Given the description of an element on the screen output the (x, y) to click on. 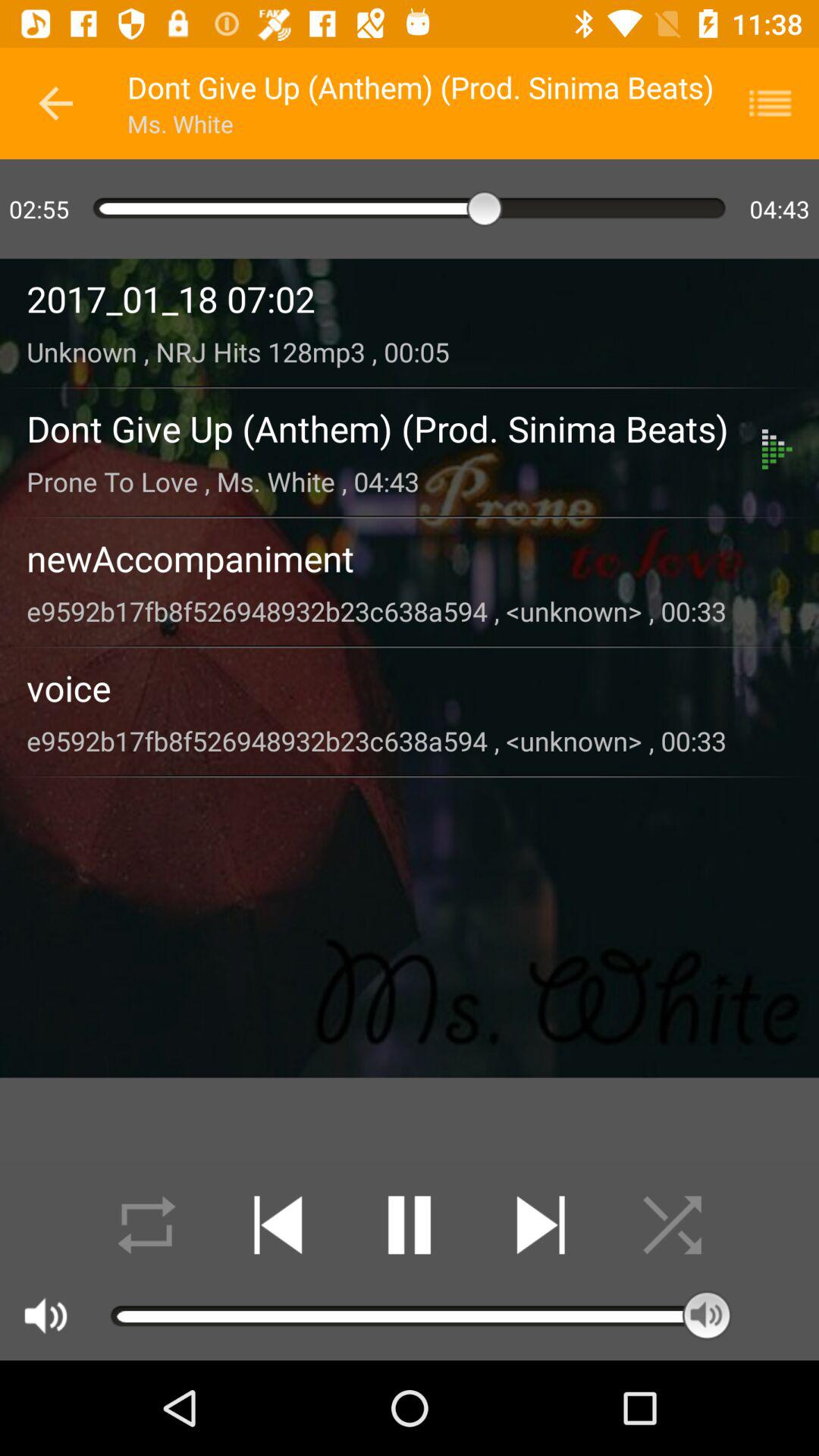
pause the music (409, 1224)
